Given the description of an element on the screen output the (x, y) to click on. 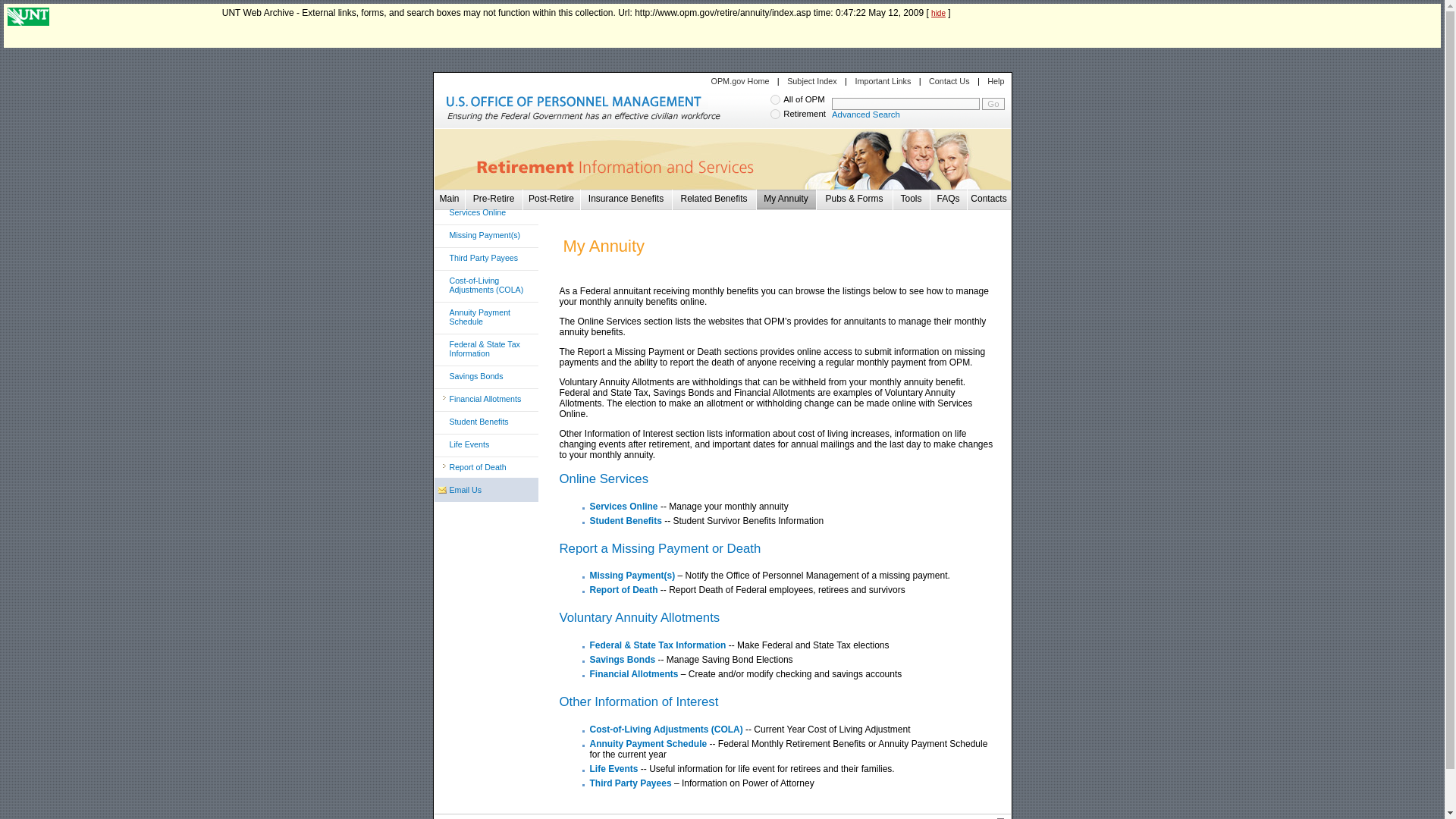
FAQs (948, 198)
Main (448, 198)
Retirement (775, 113)
Help (995, 80)
My Annuity (786, 198)
Third Party Payees (489, 261)
Toggle Node (444, 442)
Annuity Payment Schedule (489, 320)
Go (992, 103)
Financial Allotments (489, 402)
Toggle Node (444, 233)
Services Online (489, 216)
Advanced Search (865, 113)
Services Online (623, 506)
Subject Index (812, 80)
